Given the description of an element on the screen output the (x, y) to click on. 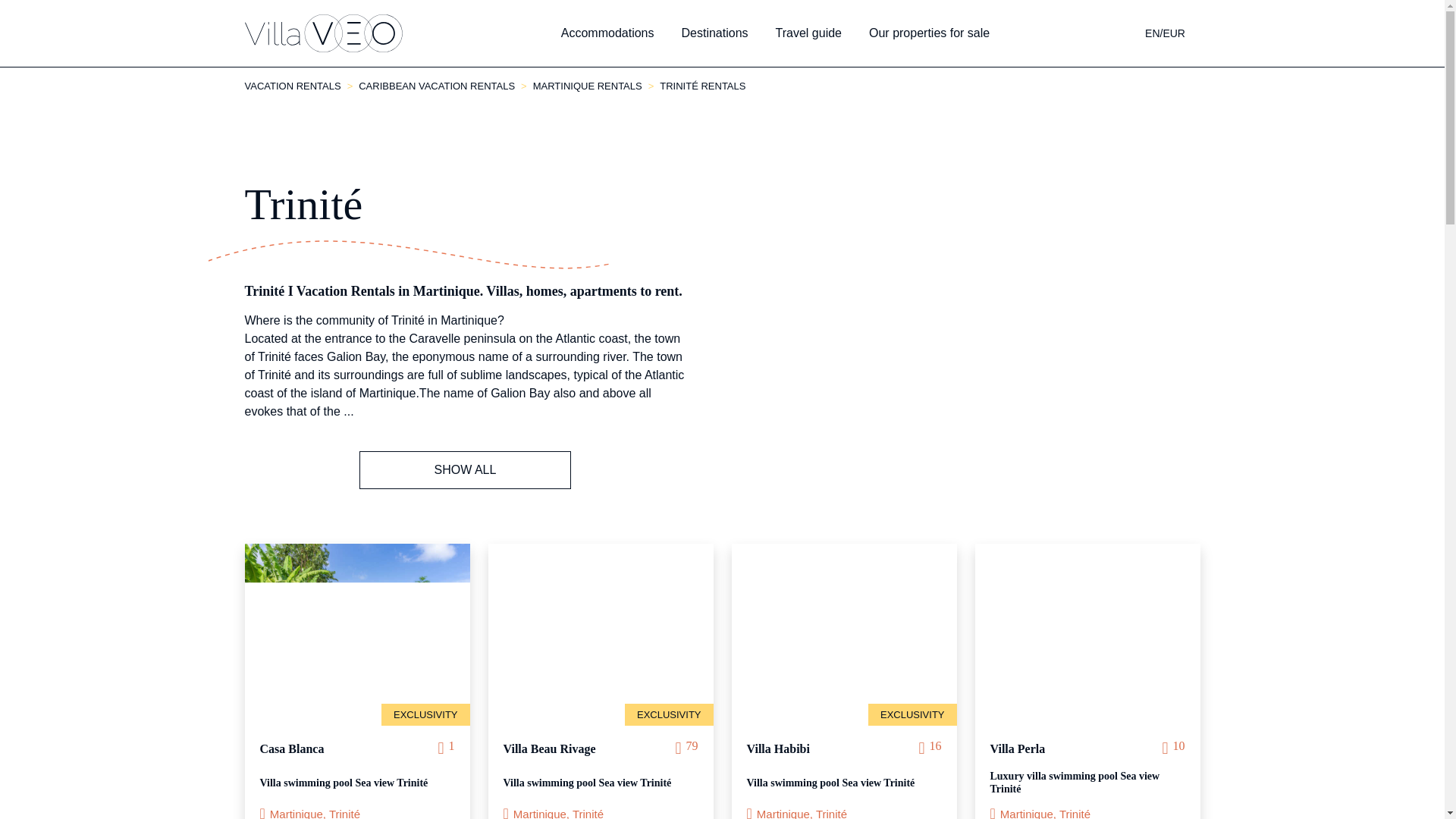
Our properties for sale (929, 33)
MARTINIQUE RENTALS (587, 85)
Accommodations (606, 33)
Destinations (714, 33)
VACATION RENTALS (292, 85)
SHOW ALL (464, 469)
Travel guide (808, 33)
CARIBBEAN VACATION RENTALS (436, 85)
